Given the description of an element on the screen output the (x, y) to click on. 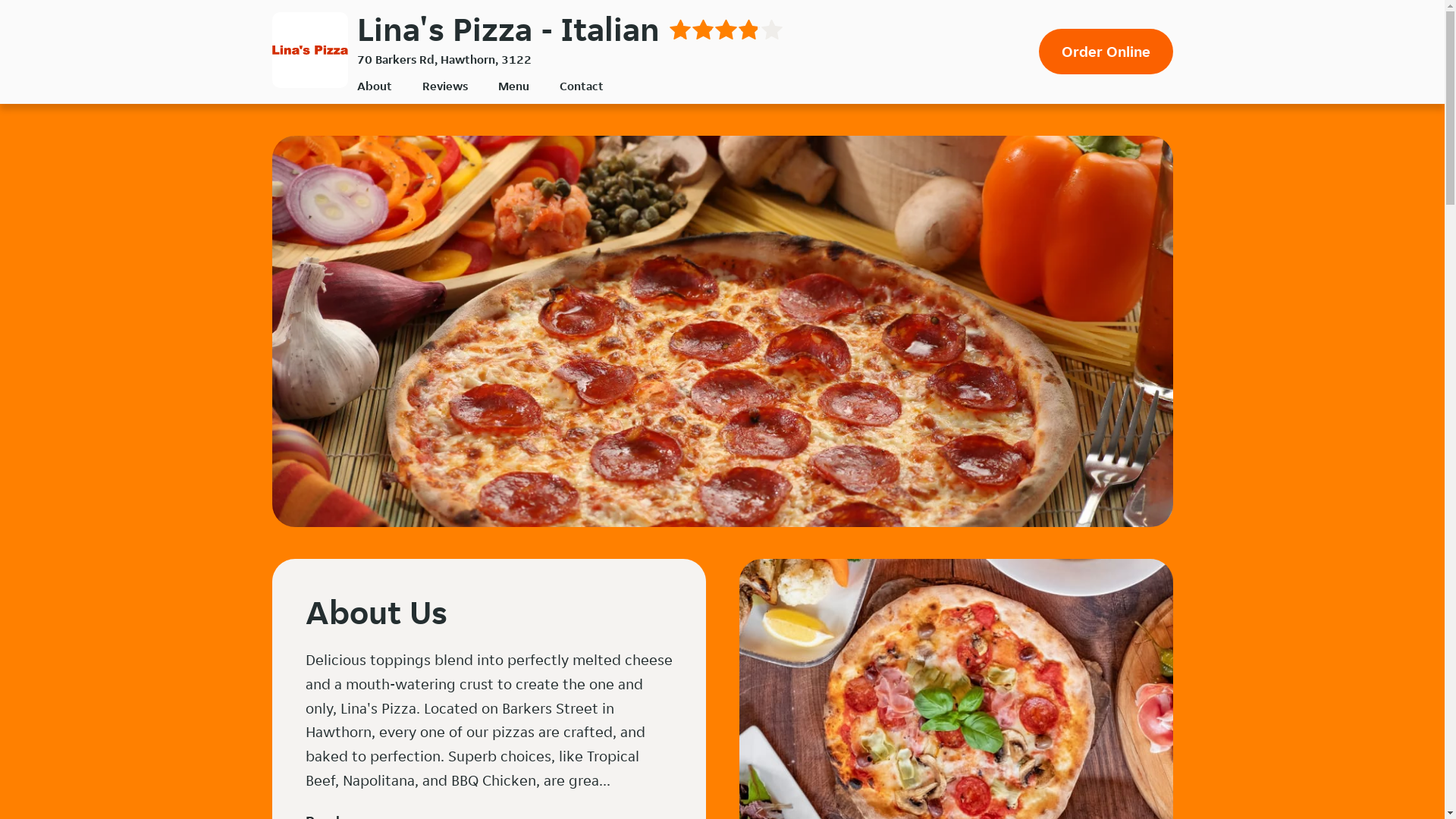
Contact Element type: text (581, 86)
Menu Element type: text (512, 86)
About Element type: text (373, 86)
Order Online Element type: text (1105, 51)
Reviews Element type: text (444, 86)
Lina's Pizza Element type: hover (309, 49)
